Given the description of an element on the screen output the (x, y) to click on. 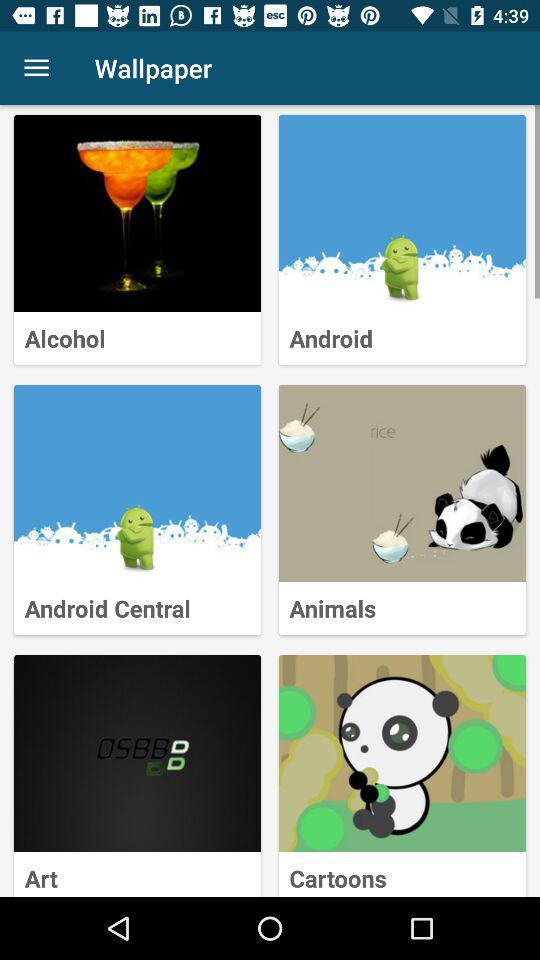
pick category (402, 753)
